Given the description of an element on the screen output the (x, y) to click on. 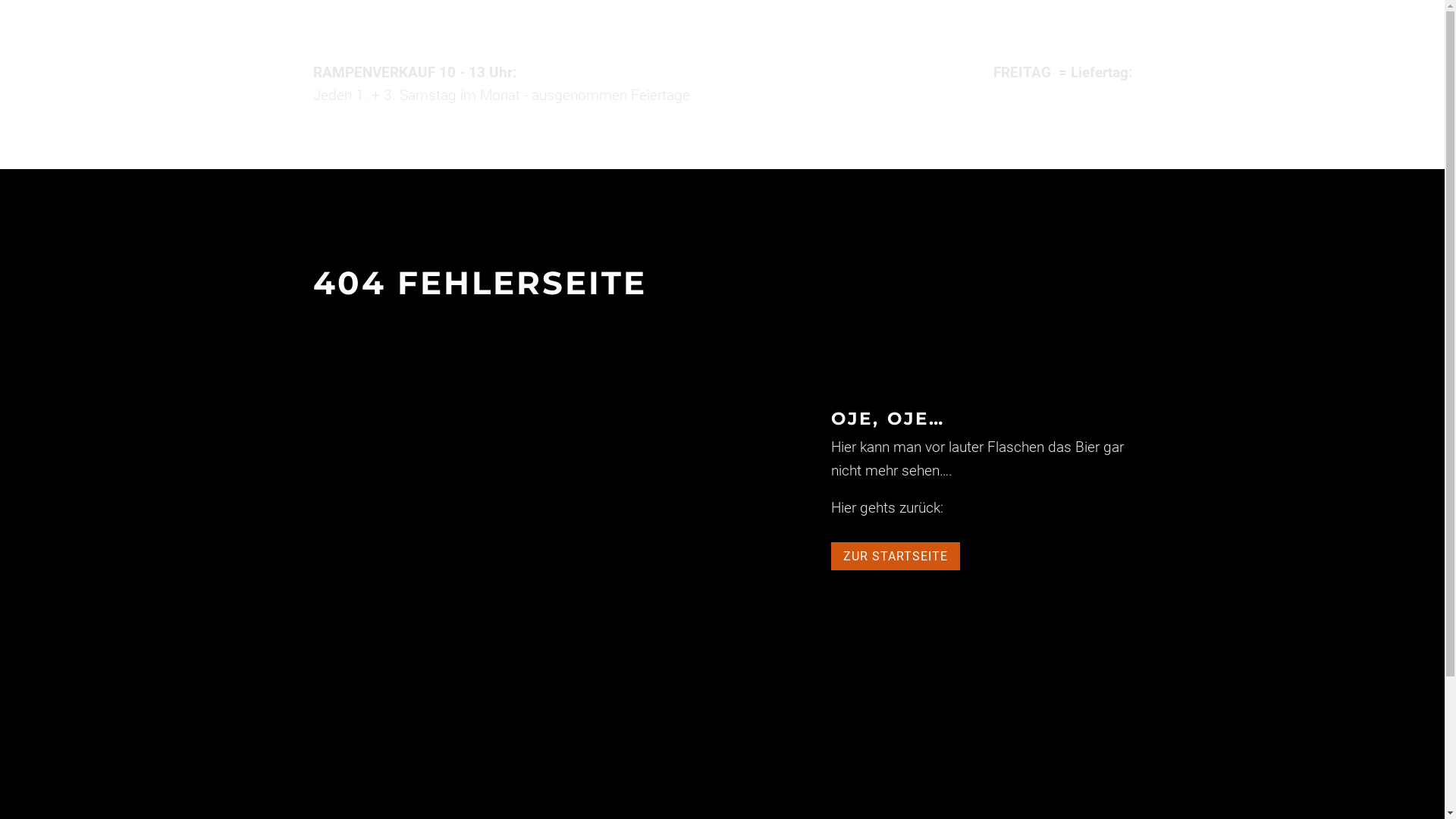
Jetzt bestellen! Element type: text (1084, 106)
ZUR STARTSEITE Element type: text (895, 556)
